Given the description of an element on the screen output the (x, y) to click on. 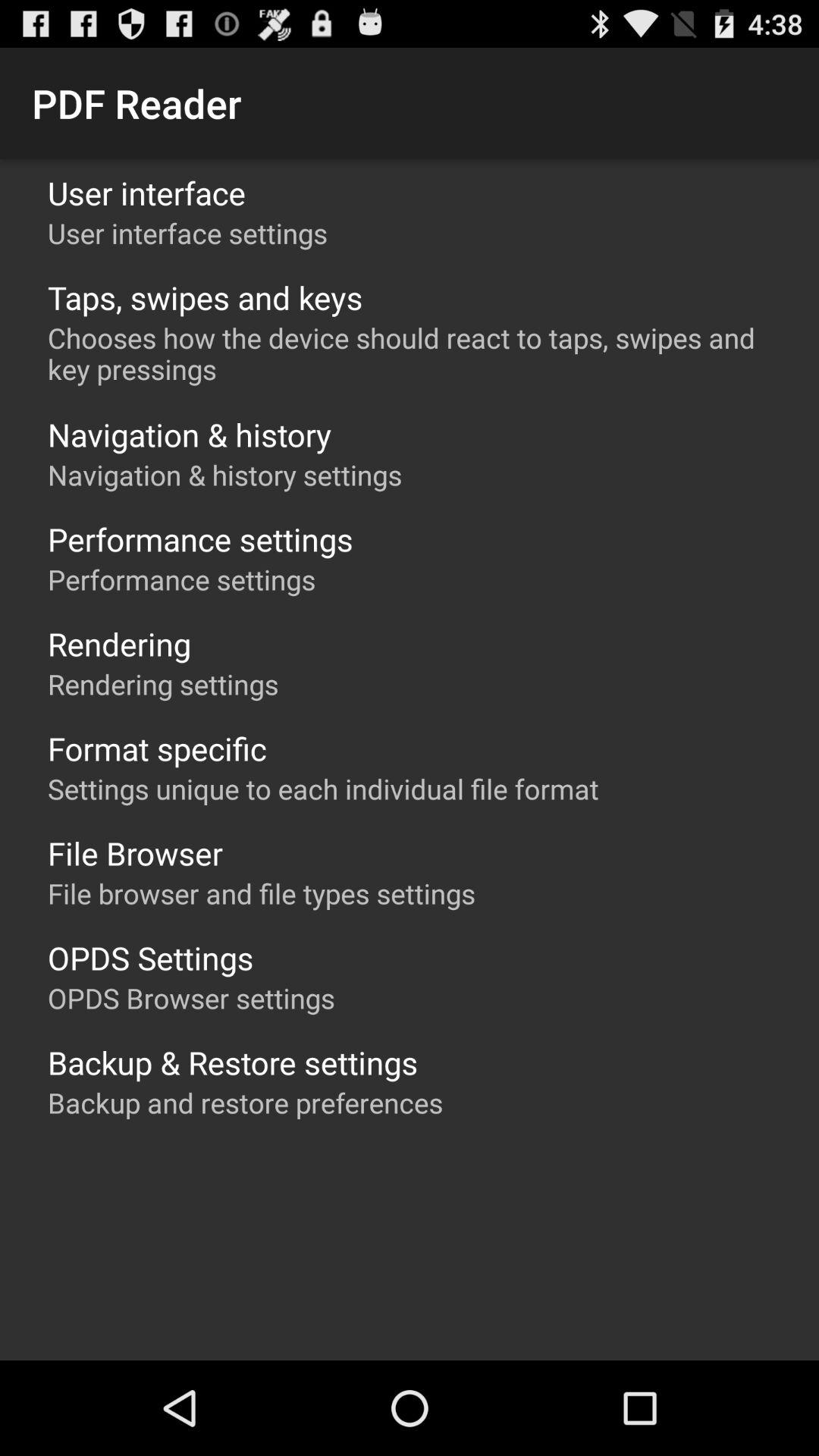
turn on the app below the taps swipes and (417, 354)
